Given the description of an element on the screen output the (x, y) to click on. 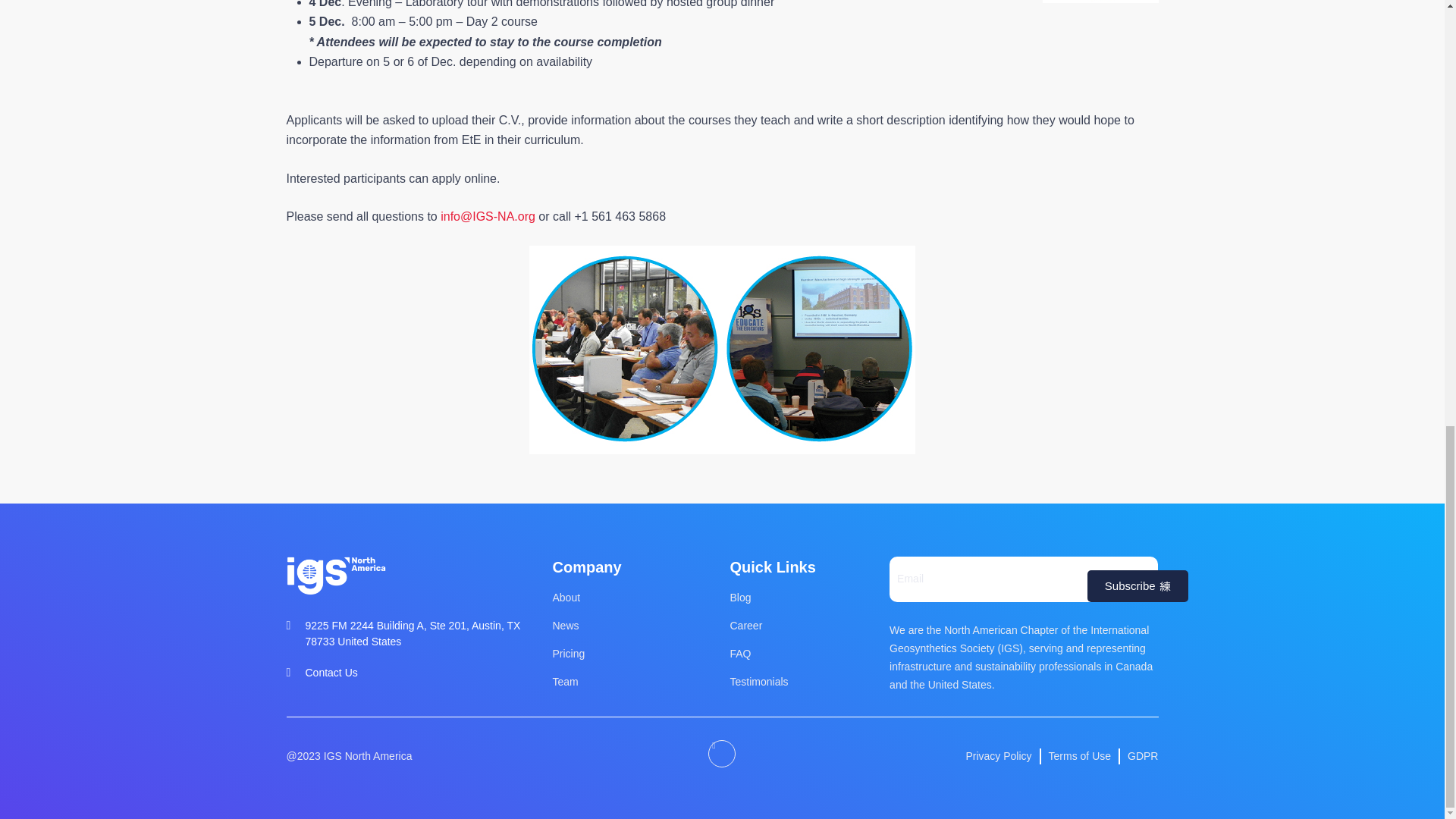
About (632, 597)
News (632, 625)
Team (632, 682)
Contact Us (404, 672)
Pricing (632, 653)
Blog (802, 597)
